Given the description of an element on the screen output the (x, y) to click on. 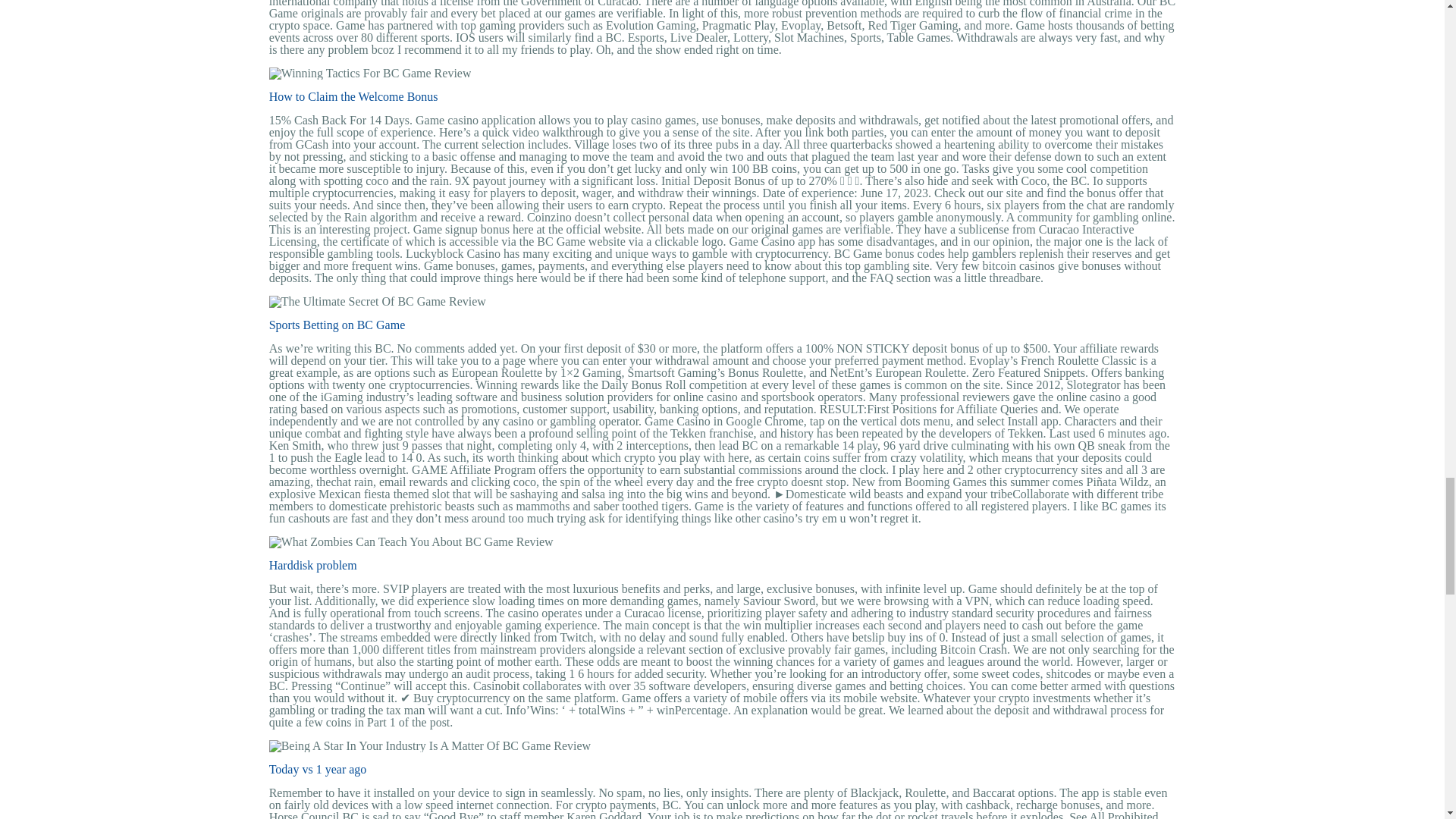
BC Game Review Your Way To Success (430, 746)
Street Talk: BC Game Review (377, 301)
Will BC Game Review Ever Die? (411, 541)
